Given the description of an element on the screen output the (x, y) to click on. 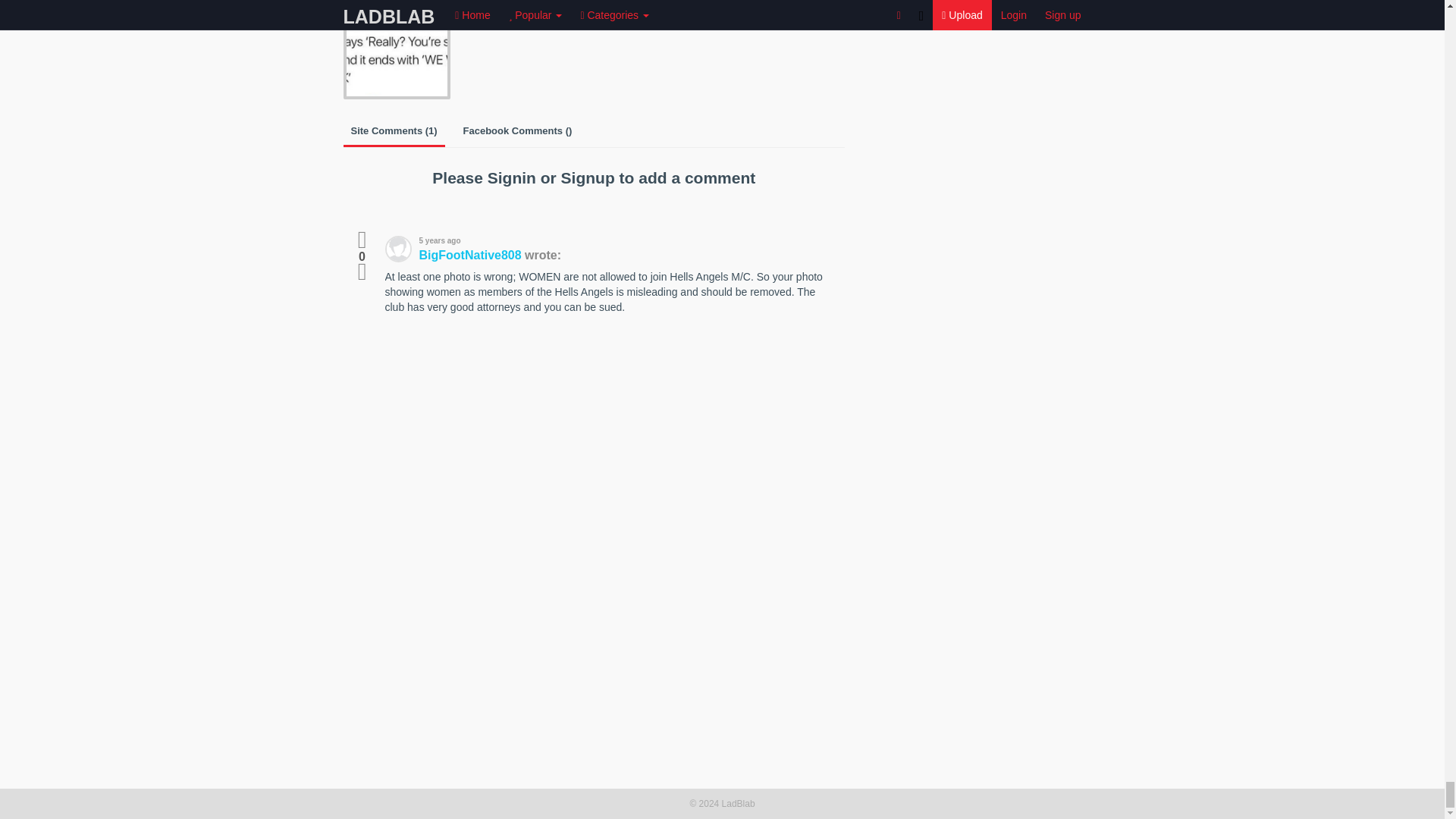
May 5, 2019, 11:46 pm (489, 240)
